Given the description of an element on the screen output the (x, y) to click on. 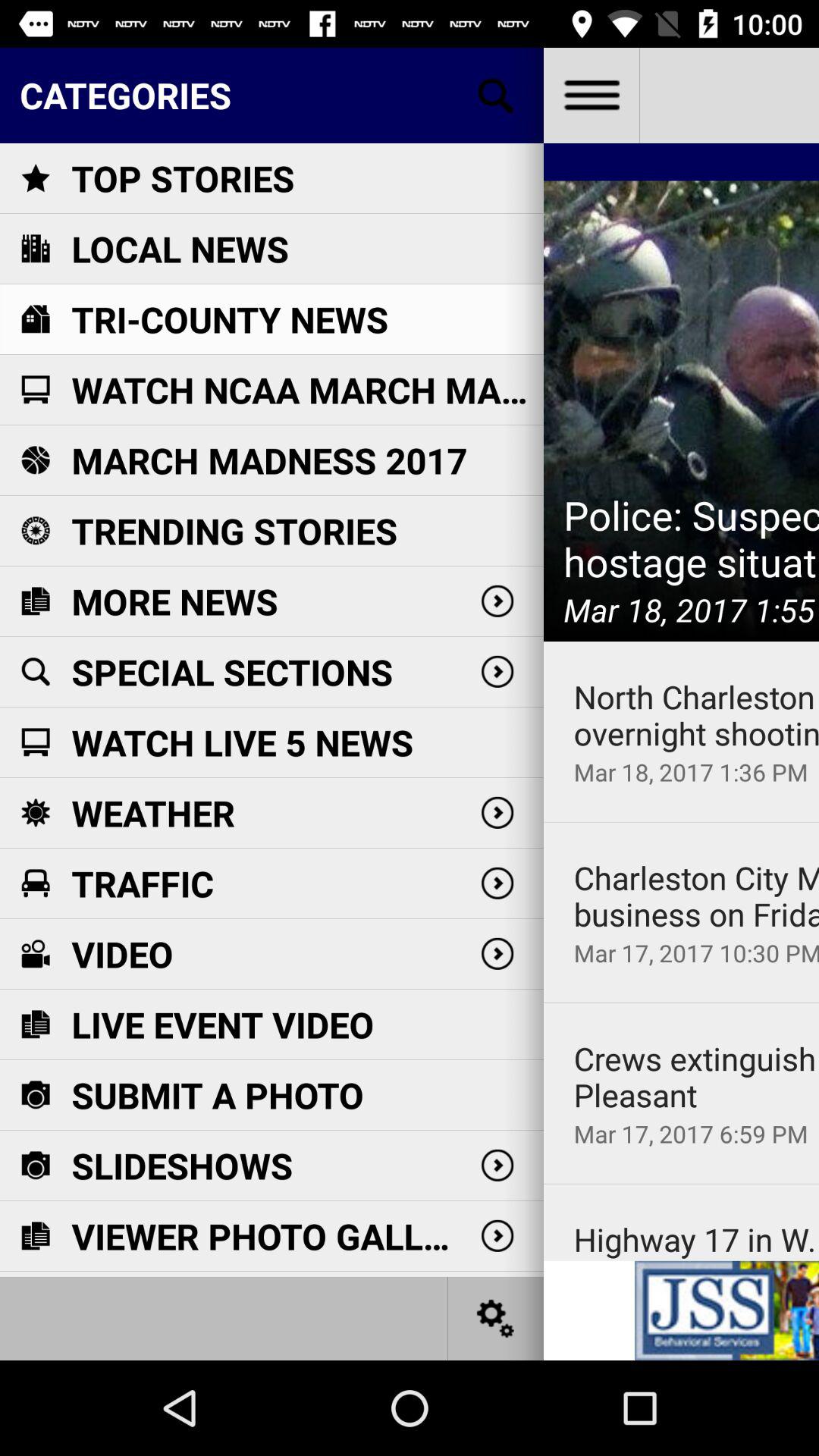
open search bar (495, 95)
